Given the description of an element on the screen output the (x, y) to click on. 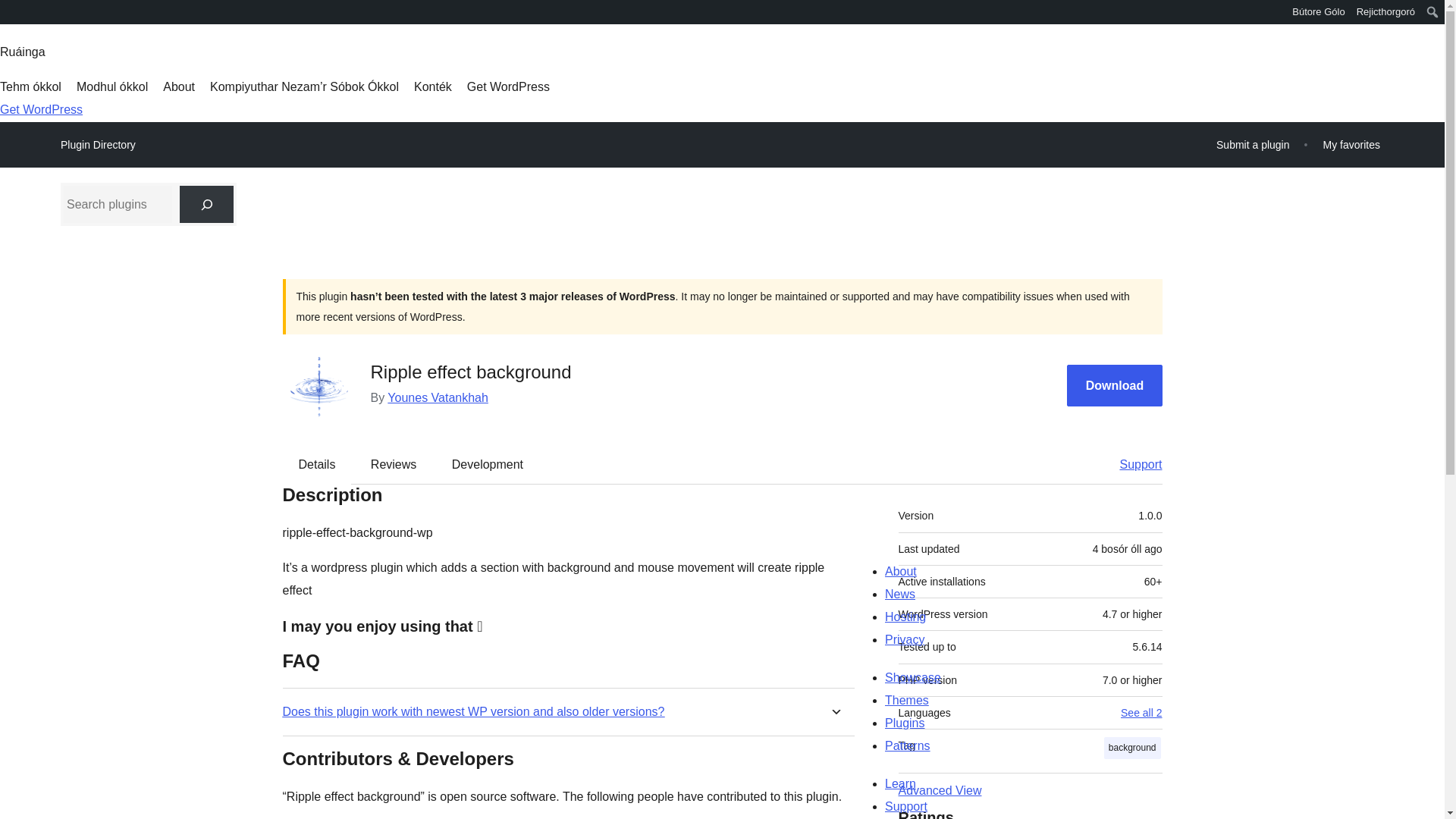
Download (1114, 385)
Plugin Directory (97, 144)
WordPress.org (10, 10)
Details (316, 464)
Submit a plugin (1253, 144)
WordPress.org (10, 16)
See all 2 (1141, 712)
Younes Vatankhah (437, 397)
Support (1132, 464)
Get WordPress (41, 109)
Get WordPress (508, 87)
Reviews (392, 464)
My favorites (1351, 144)
Development (487, 464)
